Given the description of an element on the screen output the (x, y) to click on. 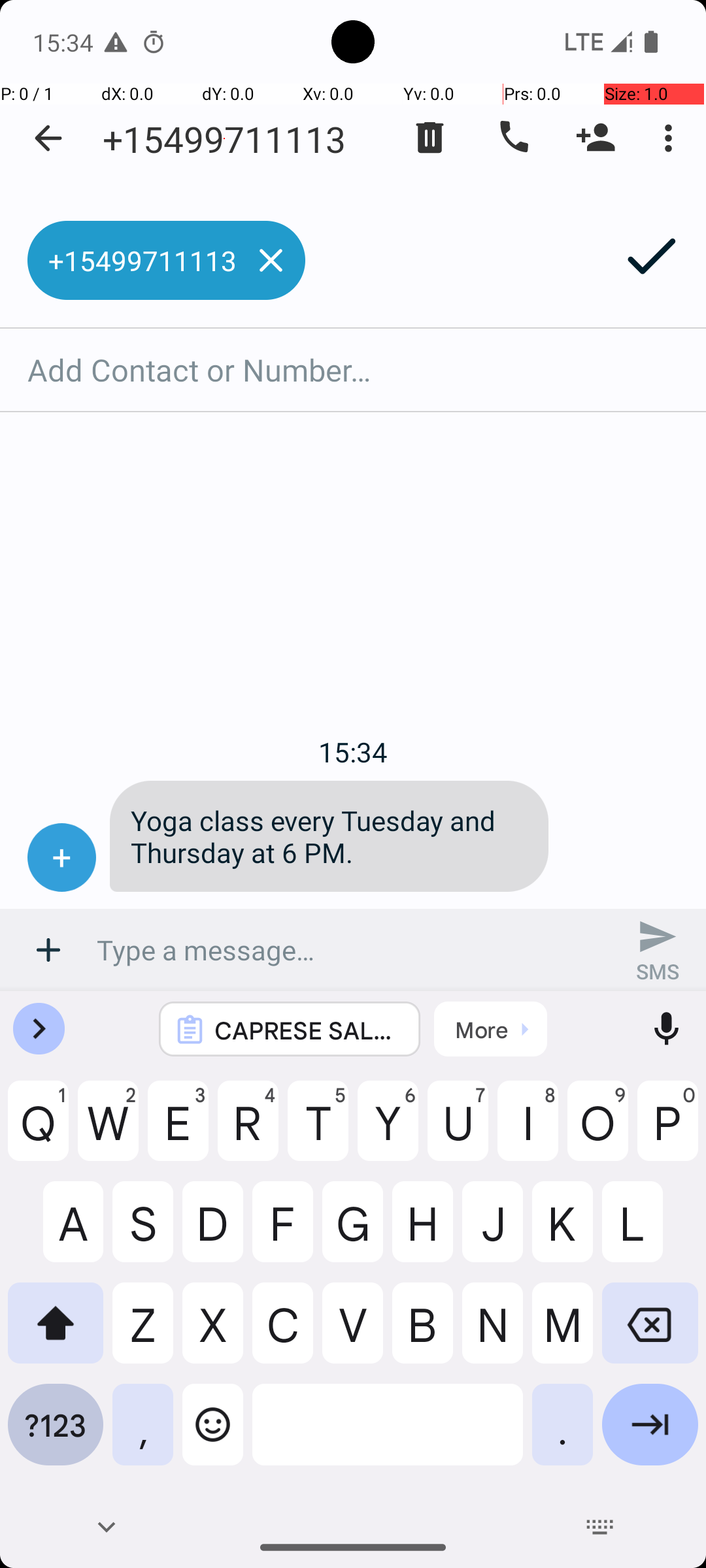
+15499711113 Element type: android.widget.TextView (223, 138)
Dial number Element type: android.widget.Button (512, 137)
Add Person Element type: android.widget.Button (595, 137)
Add Contact or Number… Element type: android.widget.AutoCompleteTextView (352, 369)
Attachment Element type: android.widget.ImageView (48, 949)
Type a message… Element type: android.widget.EditText (352, 949)
SMS Element type: android.widget.Button (657, 949)
Yoga class every Tuesday and Thursday at 6 PM. Element type: android.widget.TextView (328, 835)
CAPRESE SALAD SKEWERS  Servings: 1 serving Time: 45 mins  A quick and easy meal, perfect for busy weekdays.  Ingredients: - n/a  Directions: 1. Thread cherry tomatoes, basil leaves, and mozzarella balls onto skewers. Drizzle with balsamic glaze. Feel free to substitute with ingredients you have on hand.  Shared with https://play.google.com/store/apps/details?id=com.flauschcode.broccoli Element type: android.widget.TextView (306, 1029)
